Given the description of an element on the screen output the (x, y) to click on. 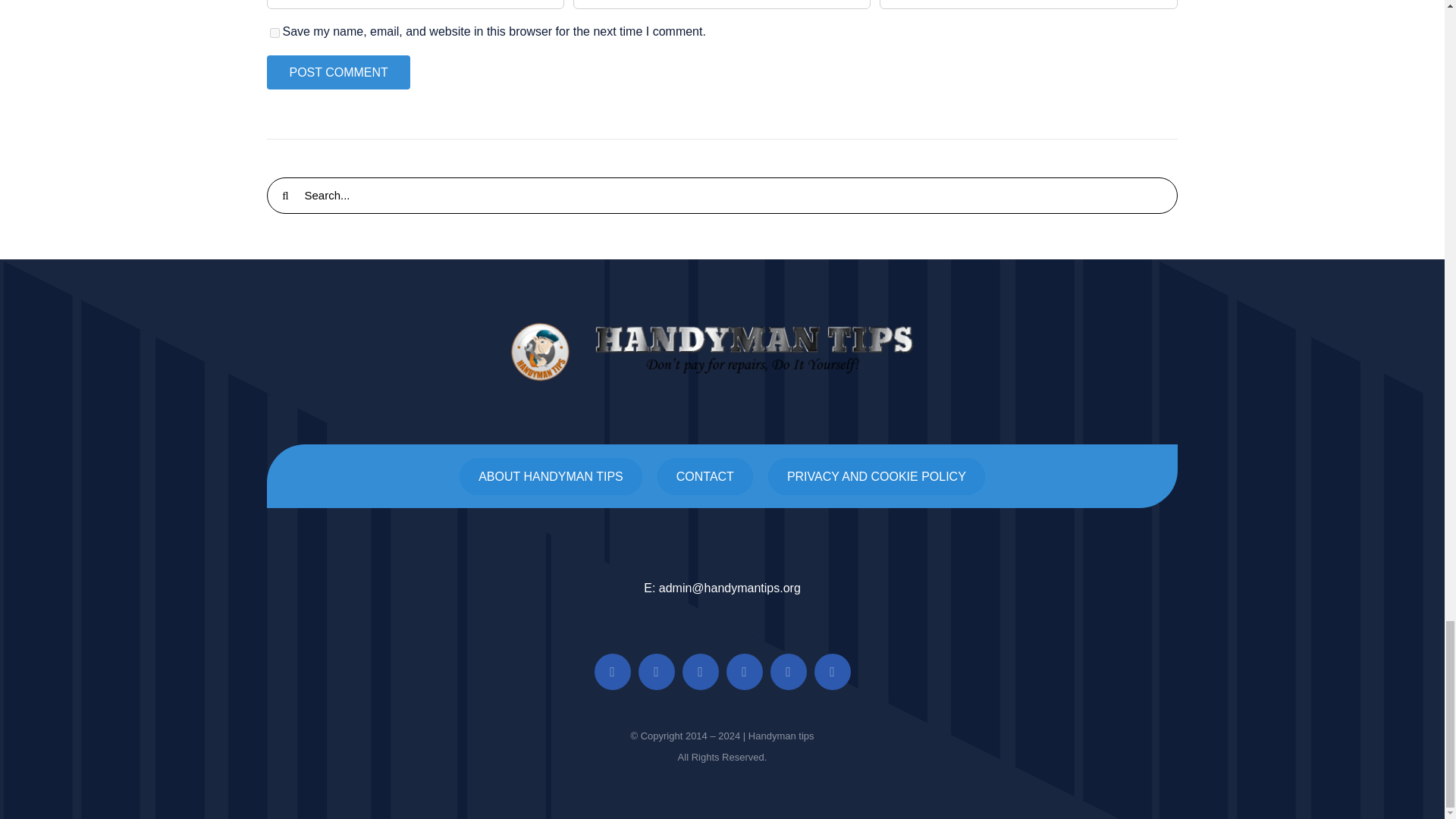
ABOUT HANDYMAN TIPS (551, 476)
Handyman tips header new (721, 352)
yes (274, 32)
Post Comment (337, 72)
CONTACT (705, 476)
Post Comment (337, 72)
PRIVACY AND COOKIE POLICY (876, 476)
